Given the description of an element on the screen output the (x, y) to click on. 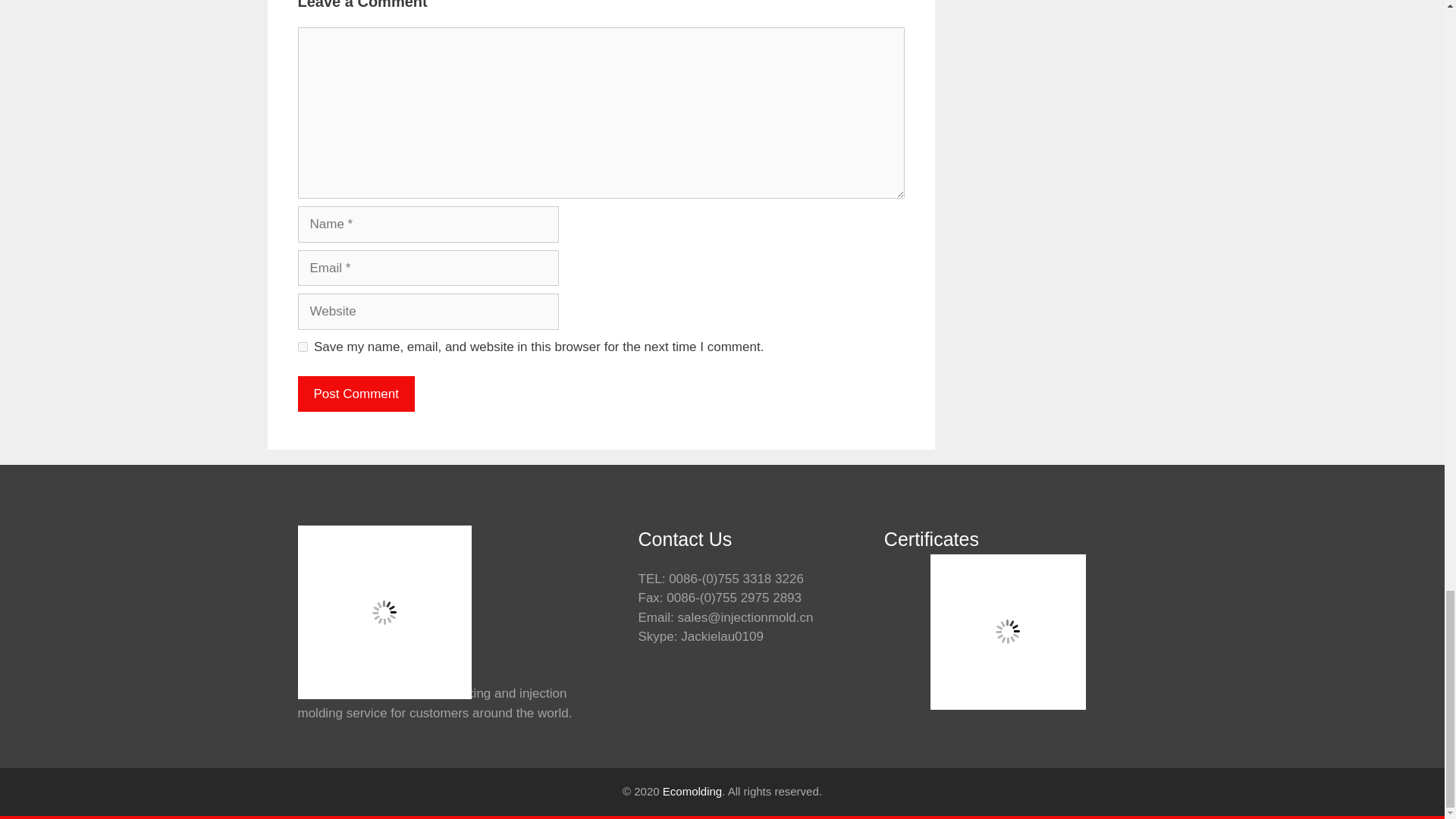
yes (302, 347)
Post Comment (355, 393)
ecomolding-logo-after (383, 612)
certification (1008, 632)
